Given the description of an element on the screen output the (x, y) to click on. 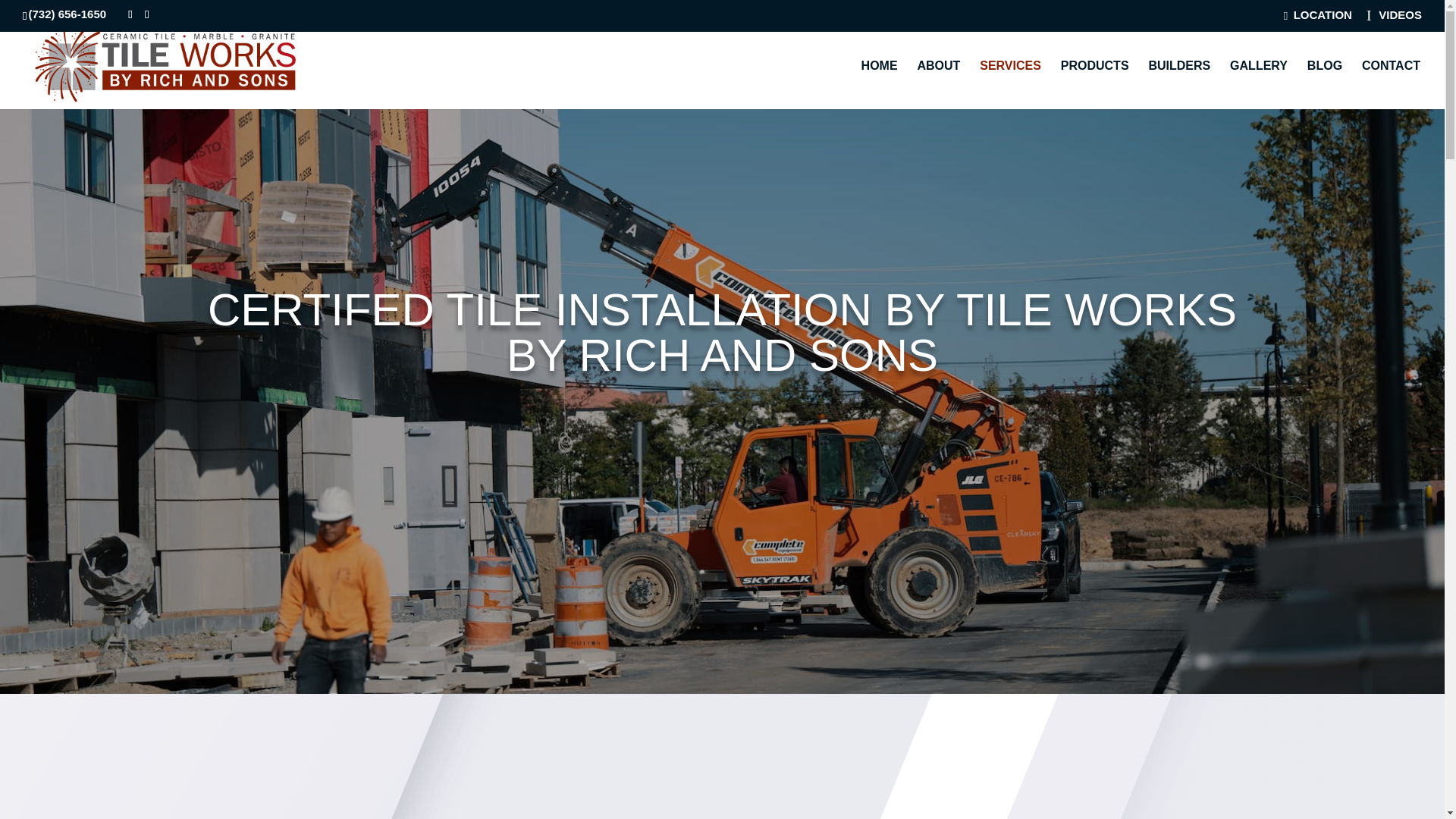
GALLERY (1258, 84)
LOCATION (1318, 19)
BUILDERS (1178, 84)
PRODUCTS (1095, 84)
SERVICES (1010, 84)
VIDEOS (1394, 19)
ABOUT (938, 84)
CONTACT (1391, 84)
